Given the description of an element on the screen output the (x, y) to click on. 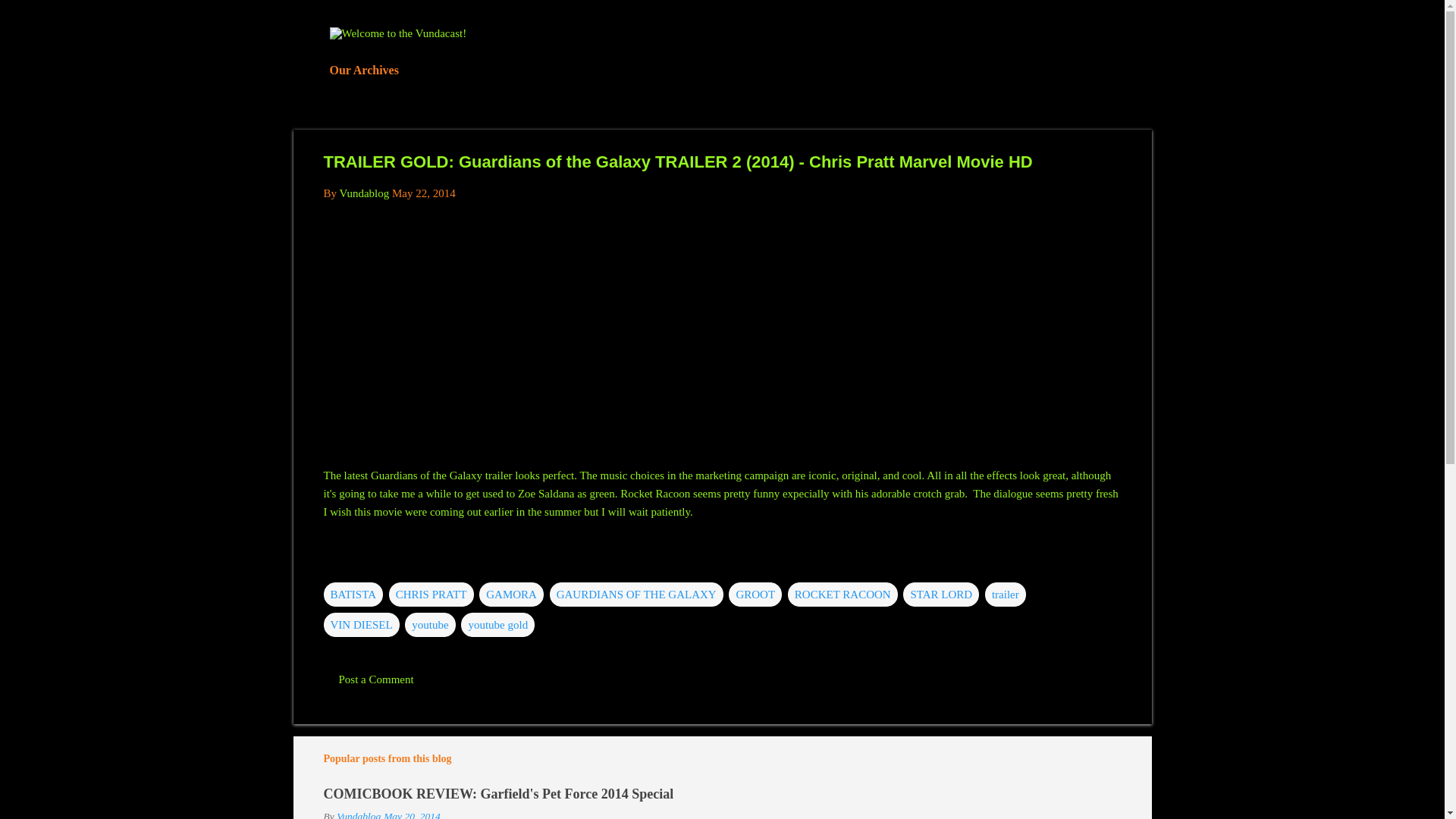
permanent link (423, 193)
author profile (363, 193)
Email Post (331, 563)
